Given the description of an element on the screen output the (x, y) to click on. 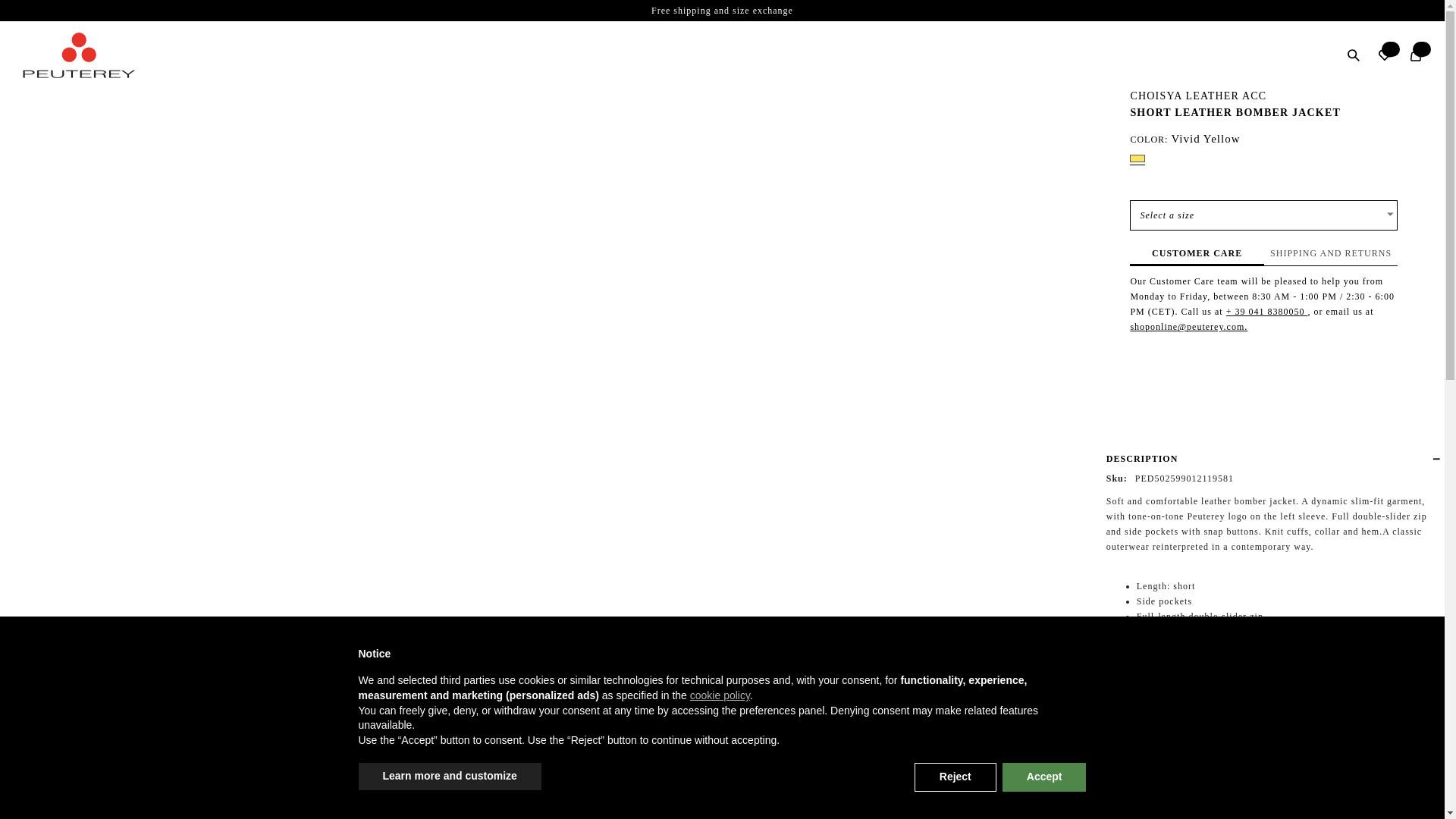
Vivid Yellow (1136, 159)
Cart (1415, 55)
Wishlist (1385, 55)
Search (1354, 55)
Peuterey (1263, 255)
